Given the description of an element on the screen output the (x, y) to click on. 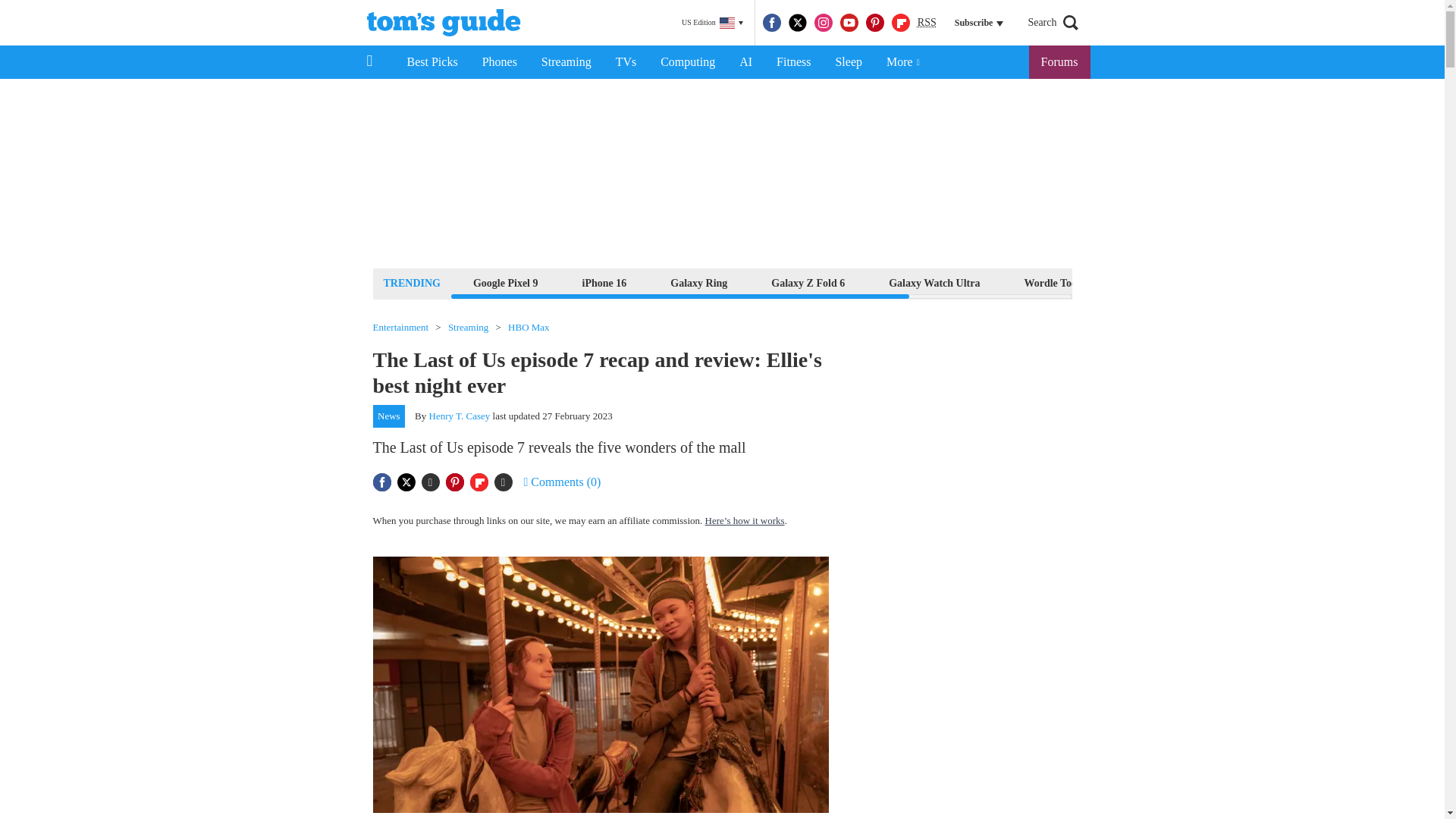
Computing (686, 61)
Phones (499, 61)
AI (745, 61)
Streaming (566, 61)
TVs (626, 61)
Really Simple Syndication (926, 21)
Best Picks (431, 61)
Sleep (848, 61)
RSS (926, 22)
US Edition (712, 22)
Fitness (793, 61)
